Given the description of an element on the screen output the (x, y) to click on. 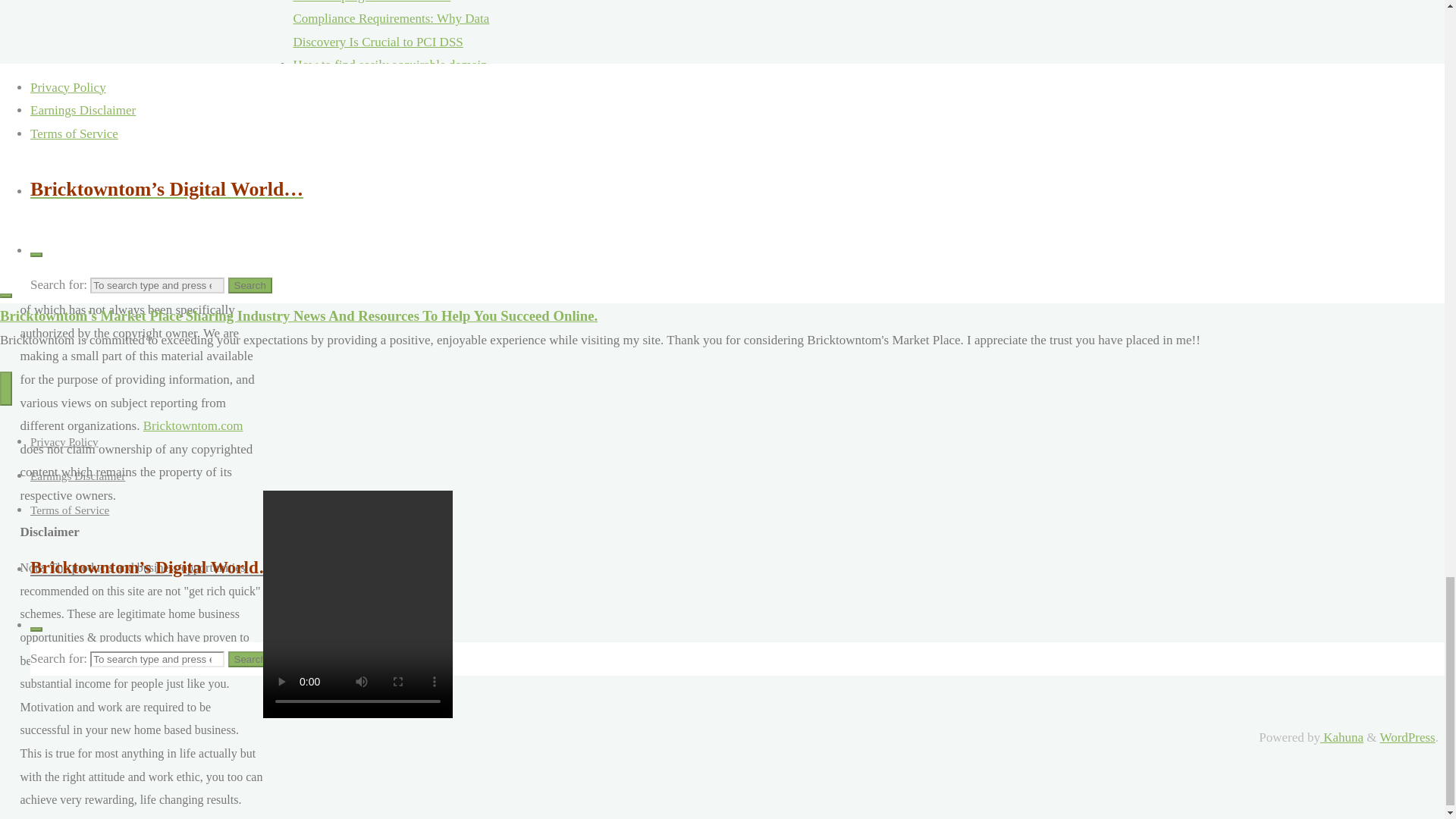
Bricktowntom.com (192, 425)
Kahuna WordPress Theme by Cryout Creations (1341, 737)
Bricktowntom.com (69, 147)
